Given the description of an element on the screen output the (x, y) to click on. 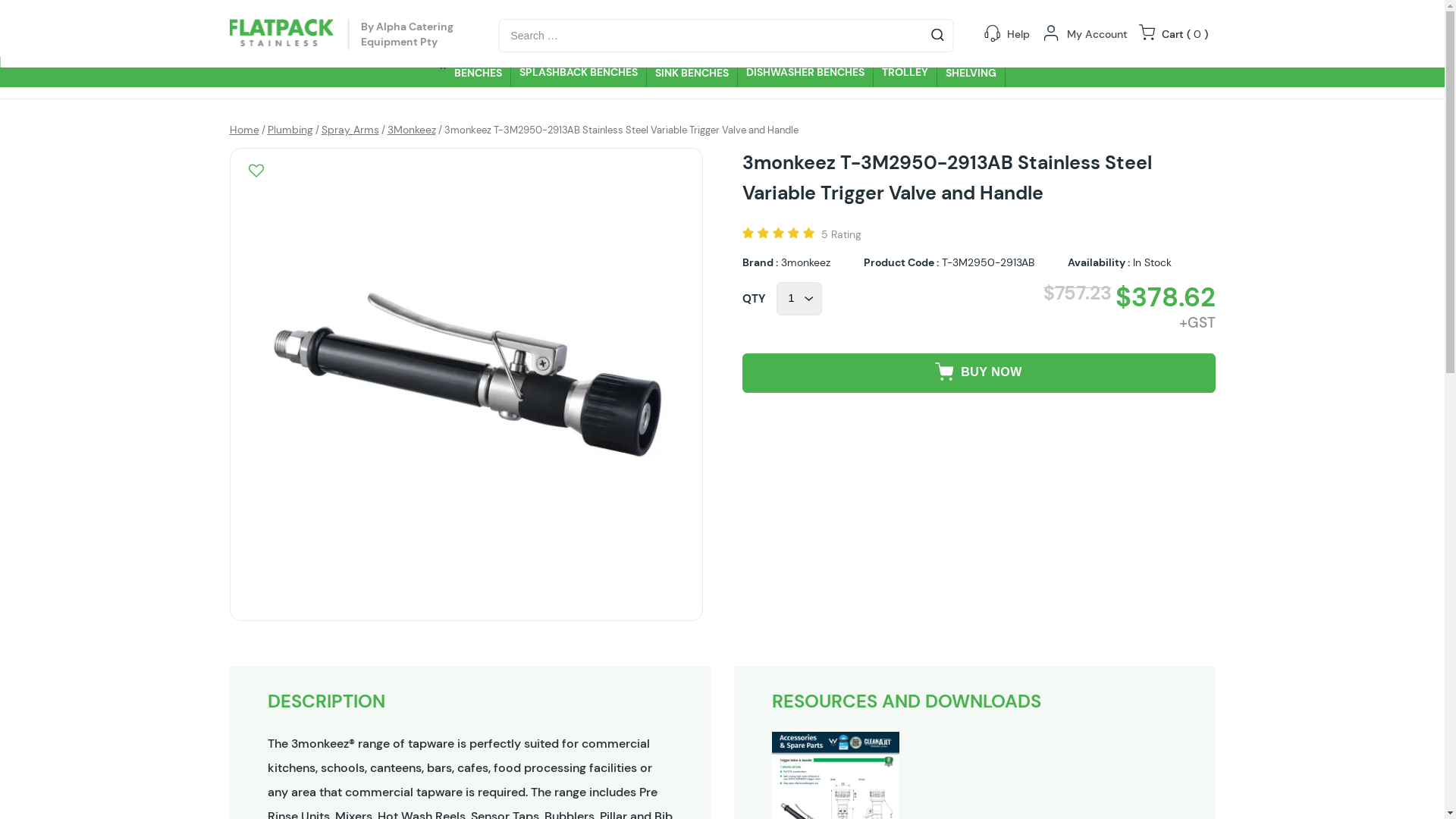
SHELVING Element type: text (971, 71)
BUY NOW Element type: text (977, 372)
Help Element type: text (1018, 33)
My Account Element type: text (1096, 33)
Home Element type: text (243, 129)
Plumbing Element type: text (289, 129)
BENCHES Element type: text (478, 71)
t-3m2950-2913ab (1) Element type: hover (466, 384)
DISHWASHER BENCHES Element type: text (804, 71)
Spray Arms Element type: text (350, 129)
3Monkeez Element type: text (410, 129)
SPLASHBACK BENCHES Element type: text (578, 71)
Search Element type: text (31, 17)
TROLLEY Element type: text (905, 71)
SINK BENCHES Element type: text (691, 71)
